Given the description of an element on the screen output the (x, y) to click on. 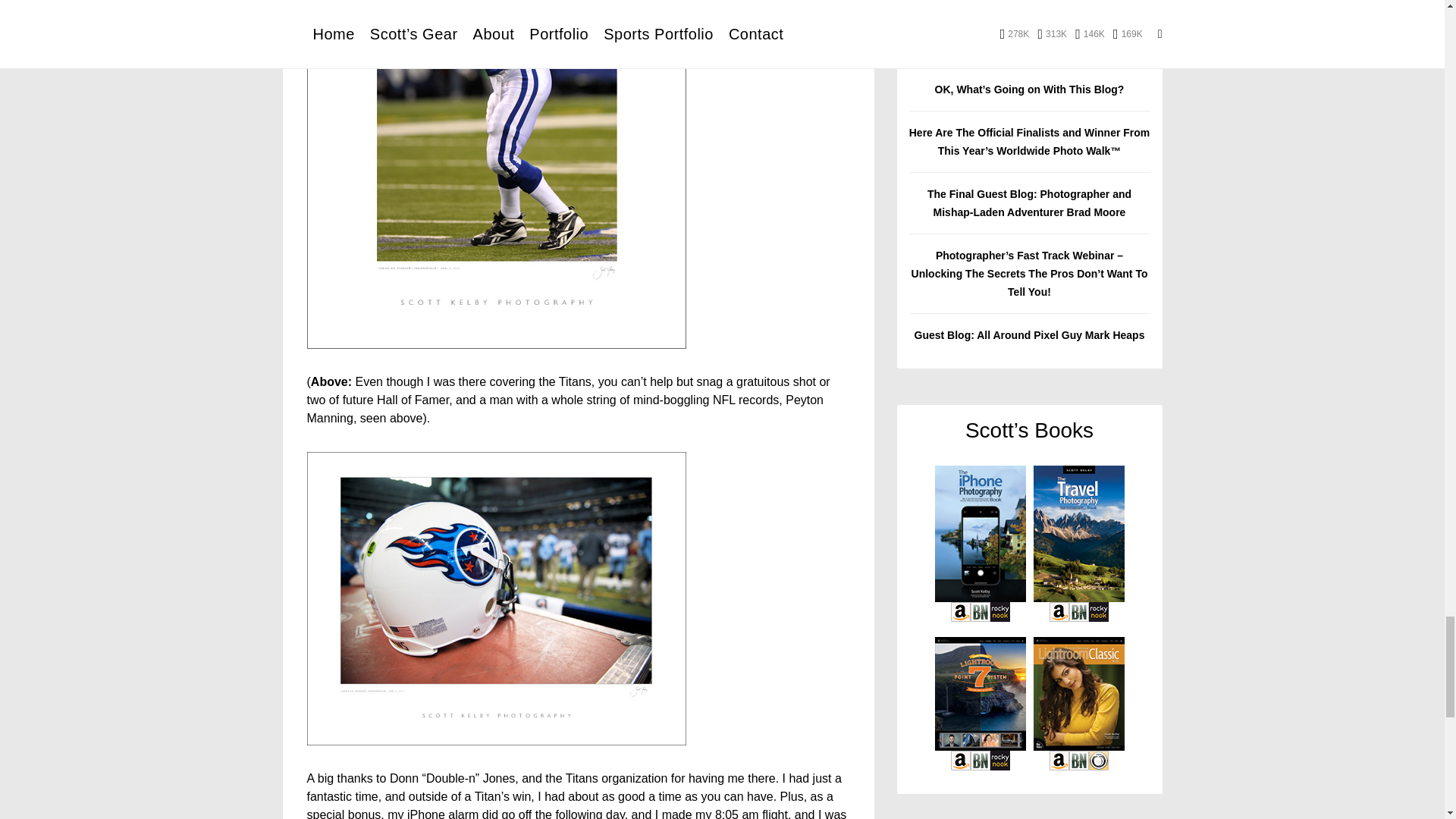
ColtTitans10a (495, 174)
ColtTitans2sm (495, 598)
